Given the description of an element on the screen output the (x, y) to click on. 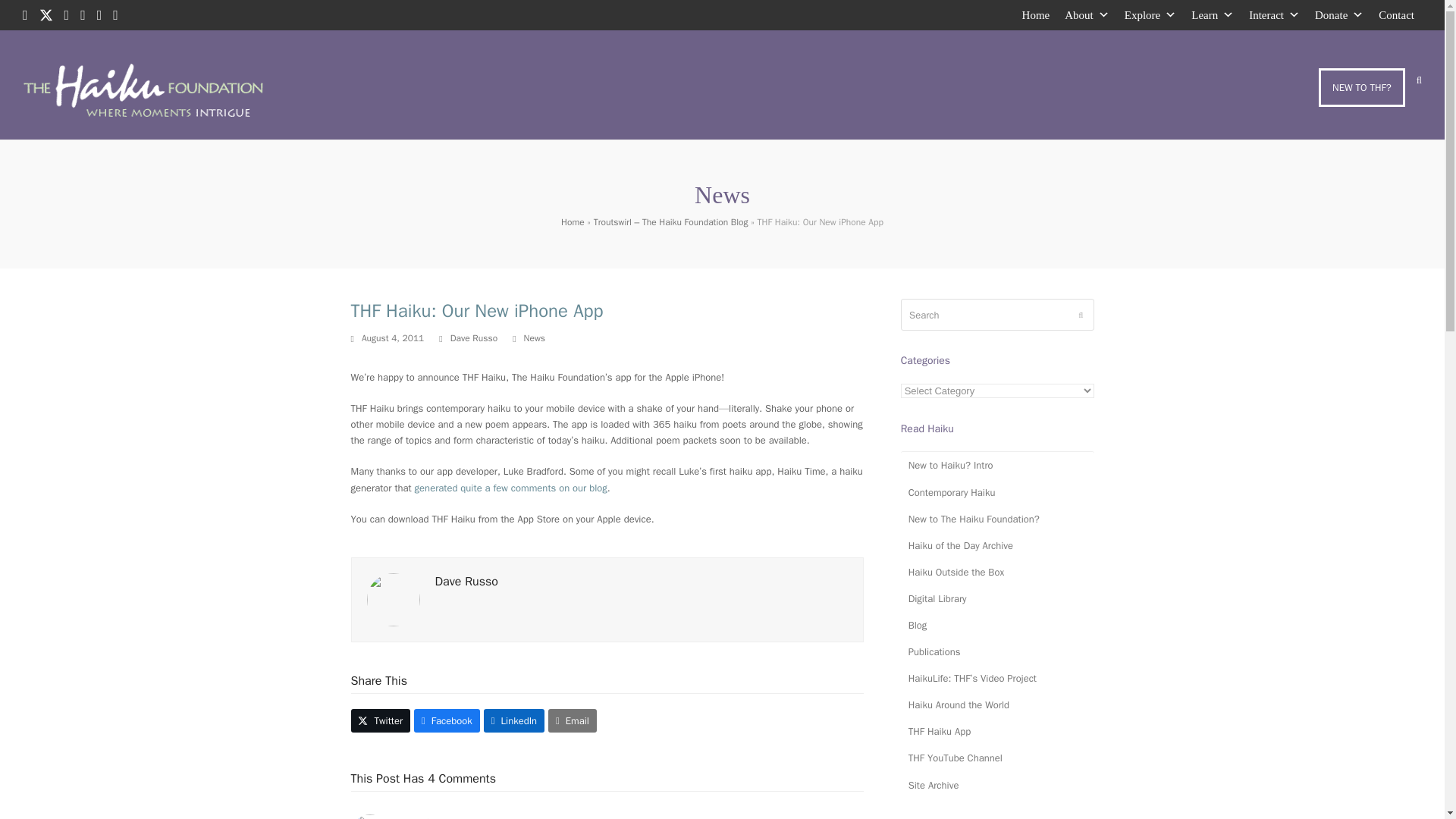
Posts by Dave Russo (473, 337)
Learn (1212, 15)
Interact (1274, 15)
Visit Author Page (393, 598)
Visit Author Page (466, 581)
Home (1036, 15)
Explore (1149, 15)
About (1086, 15)
